Given the description of an element on the screen output the (x, y) to click on. 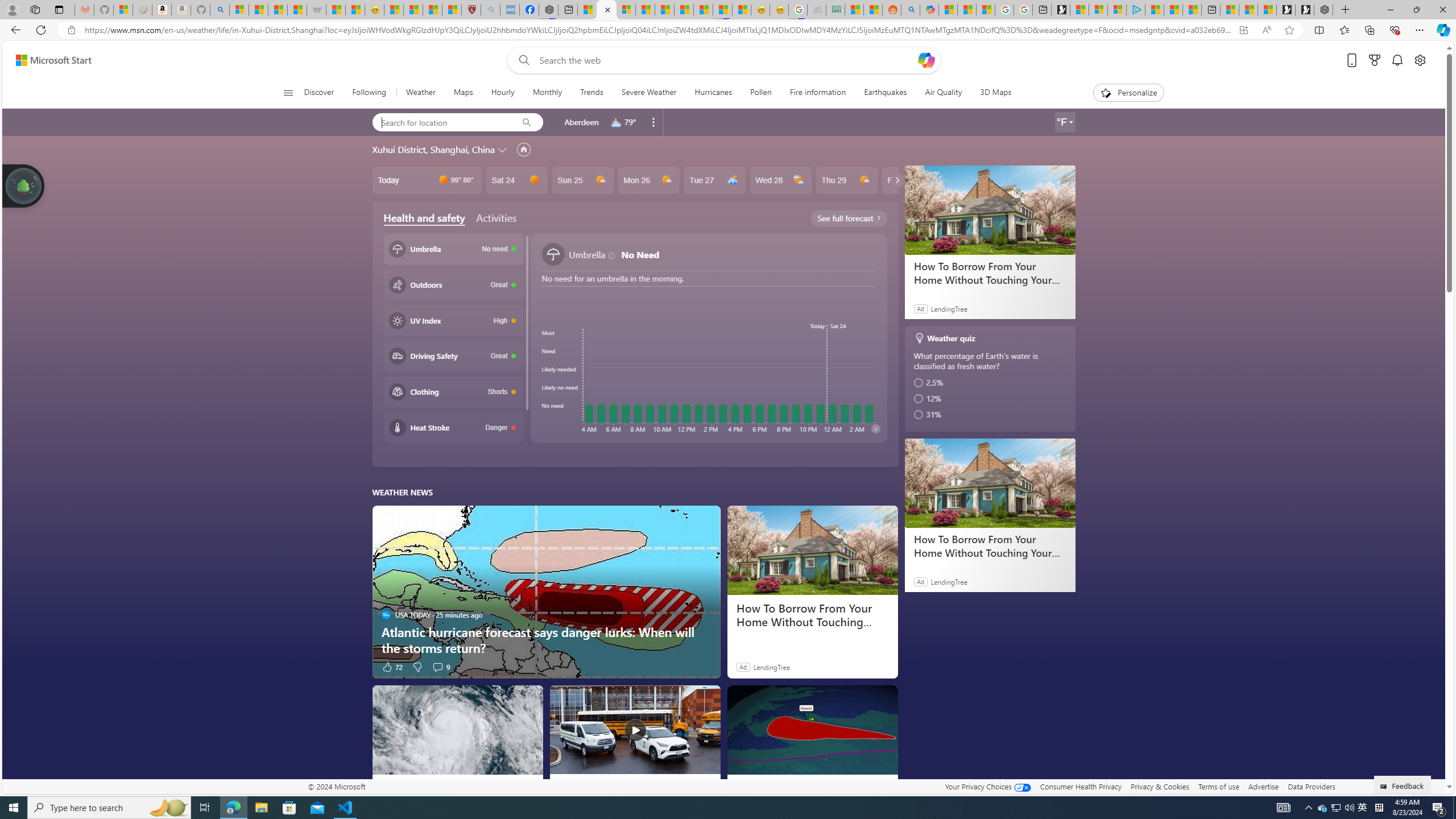
Change location (503, 149)
Data Providers (1311, 785)
Hurricanes (713, 92)
View comments 9 Comment (437, 666)
Driving safety Great (453, 355)
